Given the description of an element on the screen output the (x, y) to click on. 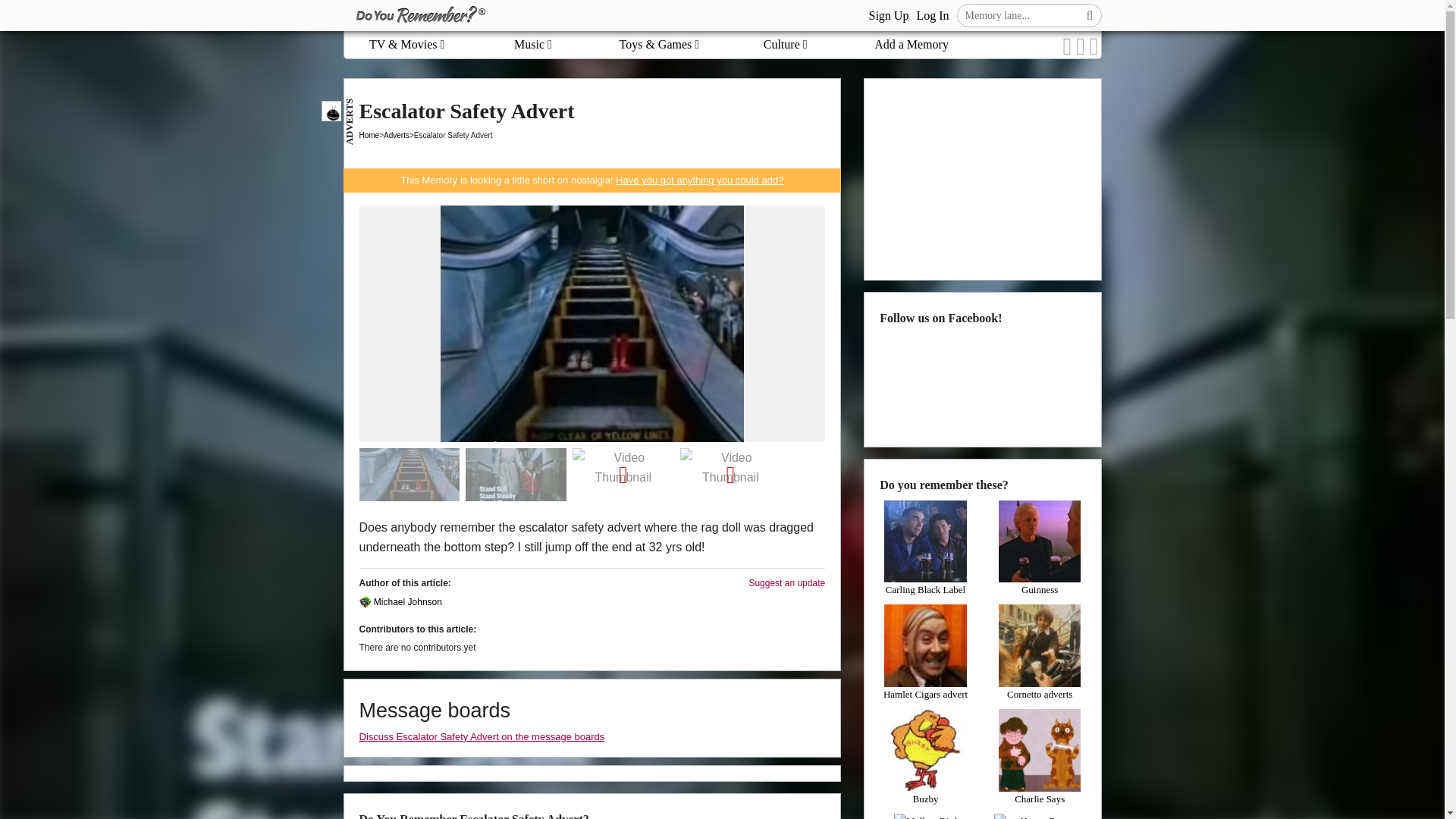
Culture (785, 43)
Michael Johnson (402, 602)
Music (532, 43)
Add a Memory (912, 43)
Log In (932, 15)
Sign Up (887, 15)
